Given the description of an element on the screen output the (x, y) to click on. 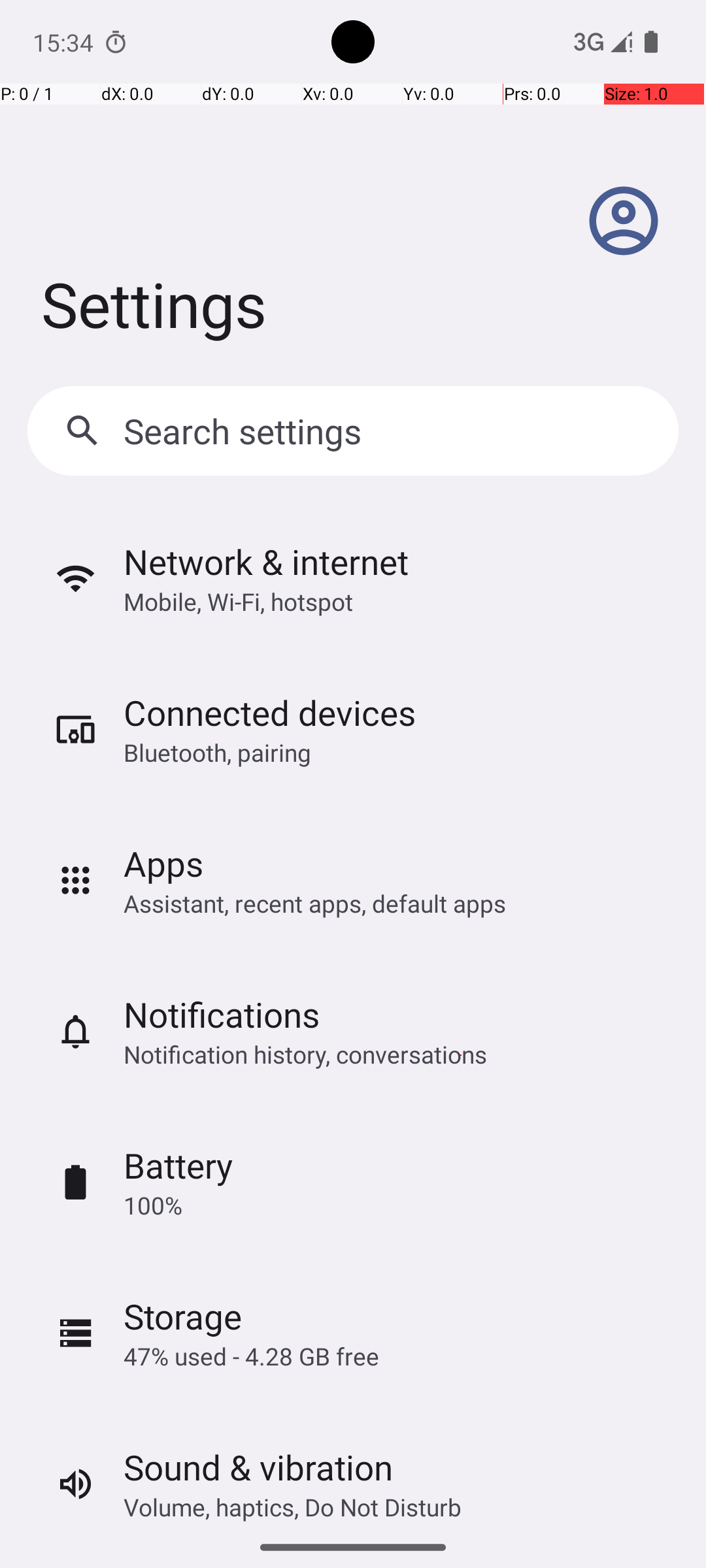
47% used - 4.28 GB free Element type: android.widget.TextView (251, 1355)
